Given the description of an element on the screen output the (x, y) to click on. 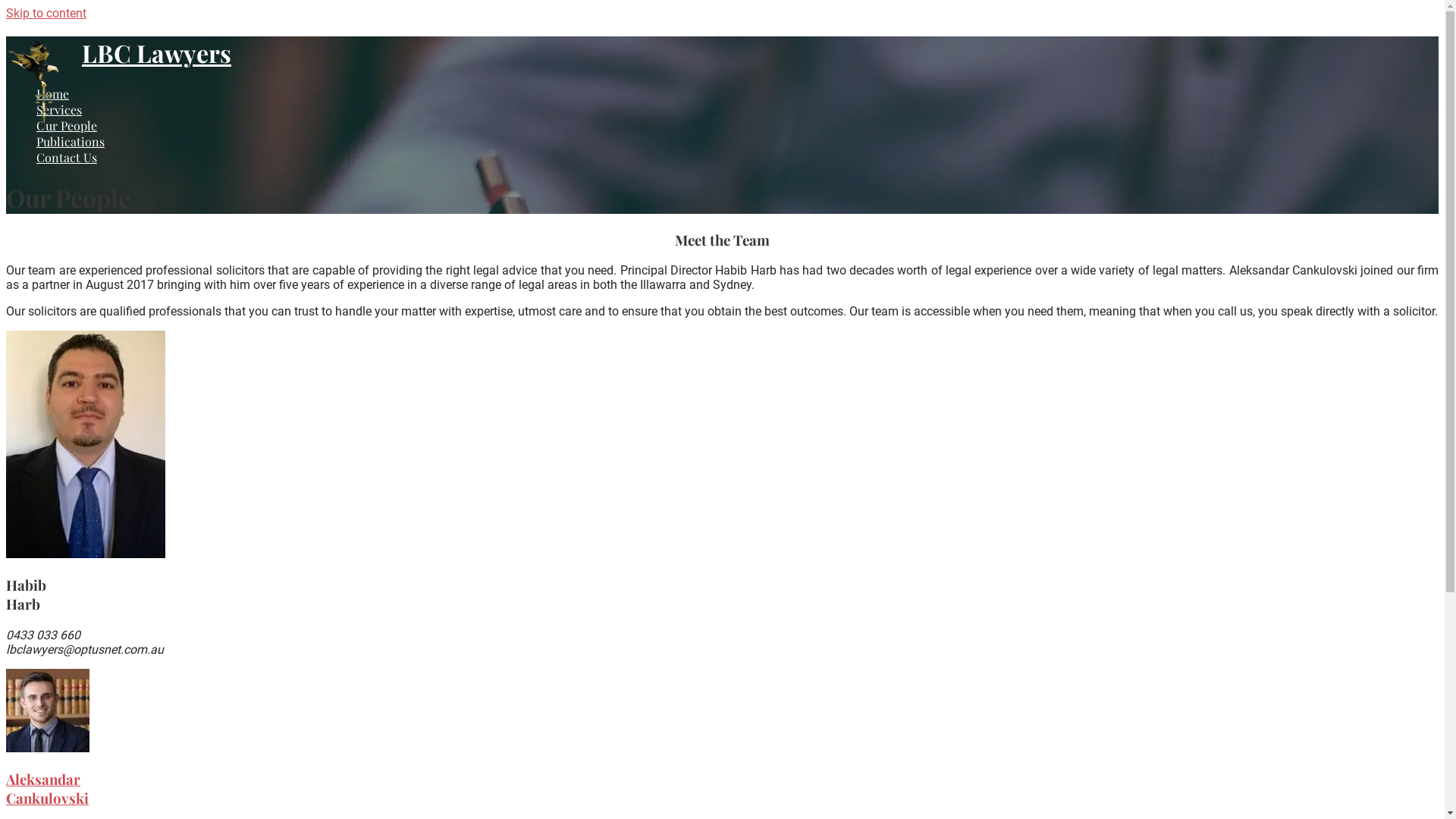
Our People Element type: text (66, 125)
Skip to content Element type: text (46, 13)
LBC Lawyers Element type: text (156, 52)
habib Element type: hover (85, 444)
Contact Us Element type: text (66, 157)
Publications Element type: text (70, 141)
Services Element type: text (58, 109)
Home Element type: text (52, 93)
Photo Element type: hover (47, 710)
Aleksandar
Cankulovski Element type: text (47, 788)
